Given the description of an element on the screen output the (x, y) to click on. 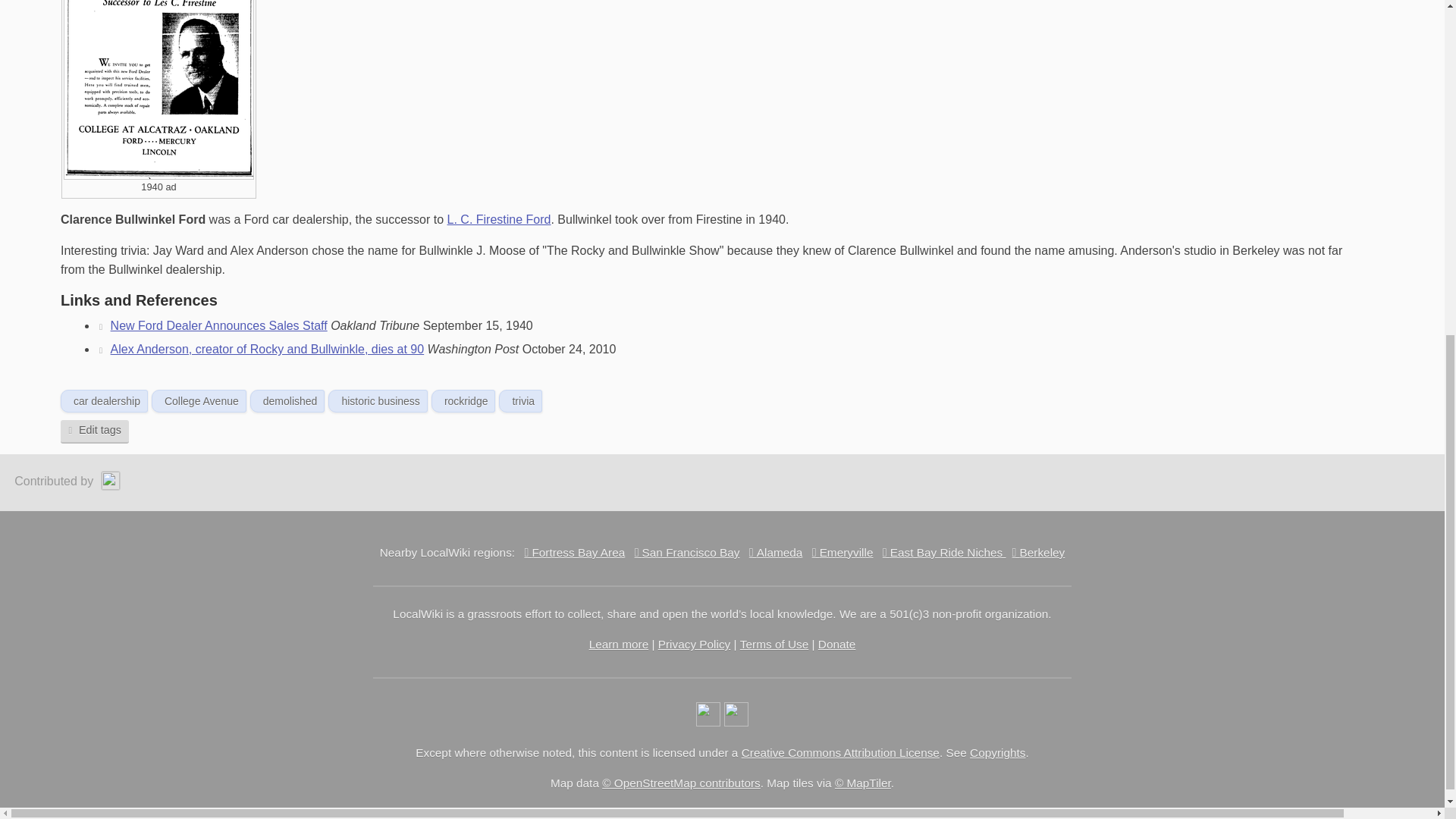
Gene (111, 481)
Edit tags (95, 431)
historic business (380, 400)
L. C. Firestine Ford (498, 219)
demolished (290, 400)
New Ford Dealer Announces Sales Staff (212, 325)
trivia (523, 400)
College Avenue (201, 400)
car dealership (106, 400)
Alex Anderson, creator of Rocky and Bullwinkle, dies at 90 (260, 349)
rockridge (465, 400)
